Given the description of an element on the screen output the (x, y) to click on. 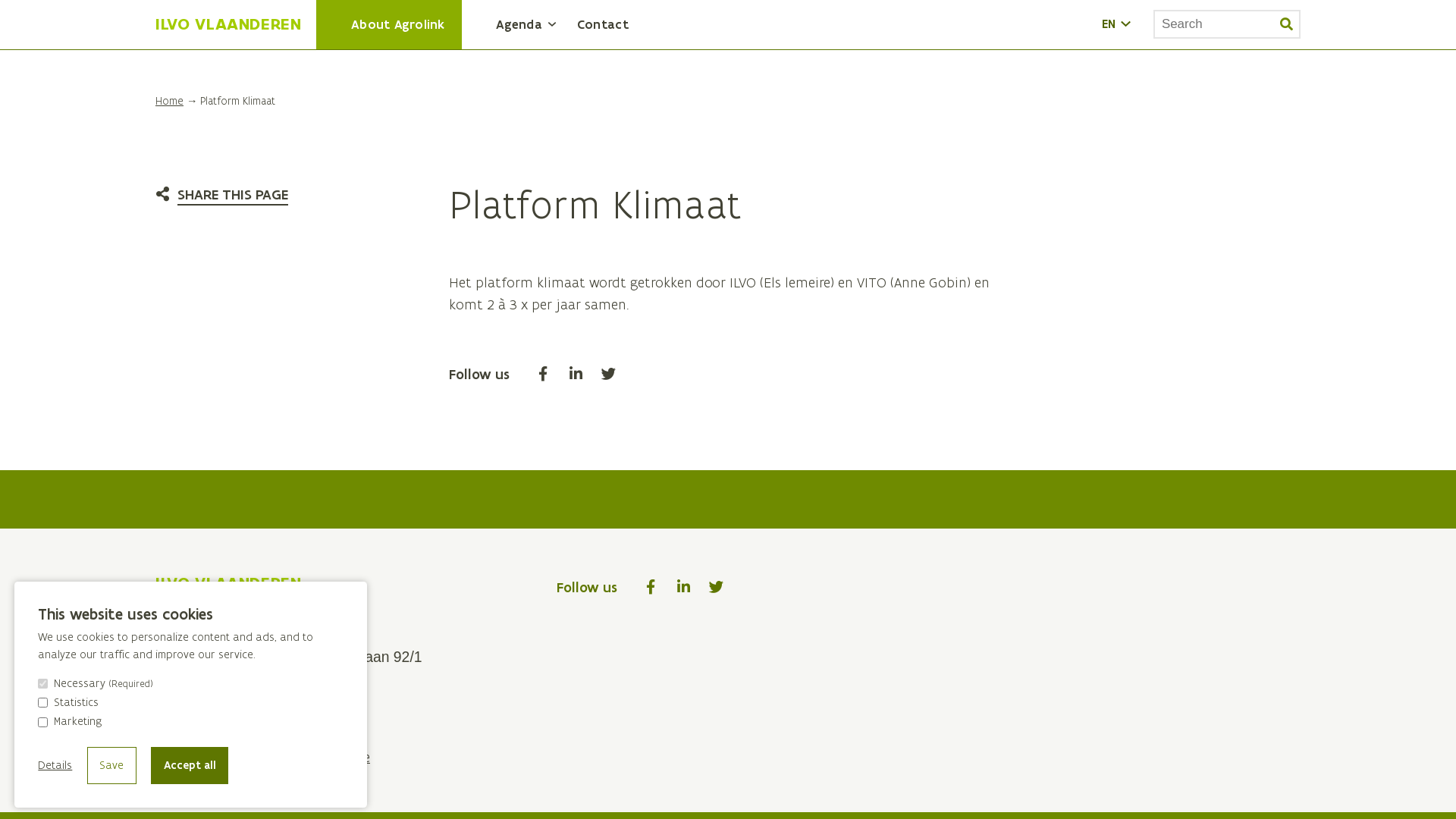
About Agrolink Element type: text (398, 23)
LinkedIn Element type: text (575, 374)
Search Element type: text (1286, 24)
Twitter Element type: text (716, 587)
Home Element type: text (169, 100)
ILVO VLAANDEREN Element type: text (228, 24)
Facebook Element type: text (650, 587)
LinkedIn Element type: text (683, 587)
Details Element type: text (54, 765)
SHARE THIS PAGE Element type: text (221, 194)
Contact Element type: text (602, 23)
EN Element type: text (1116, 23)
ILVO VLAANDEREN Element type: text (228, 583)
Accept all Element type: text (189, 764)
anne-rose@agrolink-vlaanderen.be Element type: text (262, 756)
+32 9 272 25 51 Element type: text (201, 734)
Facebook Element type: text (542, 374)
Platform Klimaat Element type: text (237, 100)
Agenda Element type: text (526, 24)
Save Element type: text (111, 764)
Twitter Element type: text (608, 374)
